Given the description of an element on the screen output the (x, y) to click on. 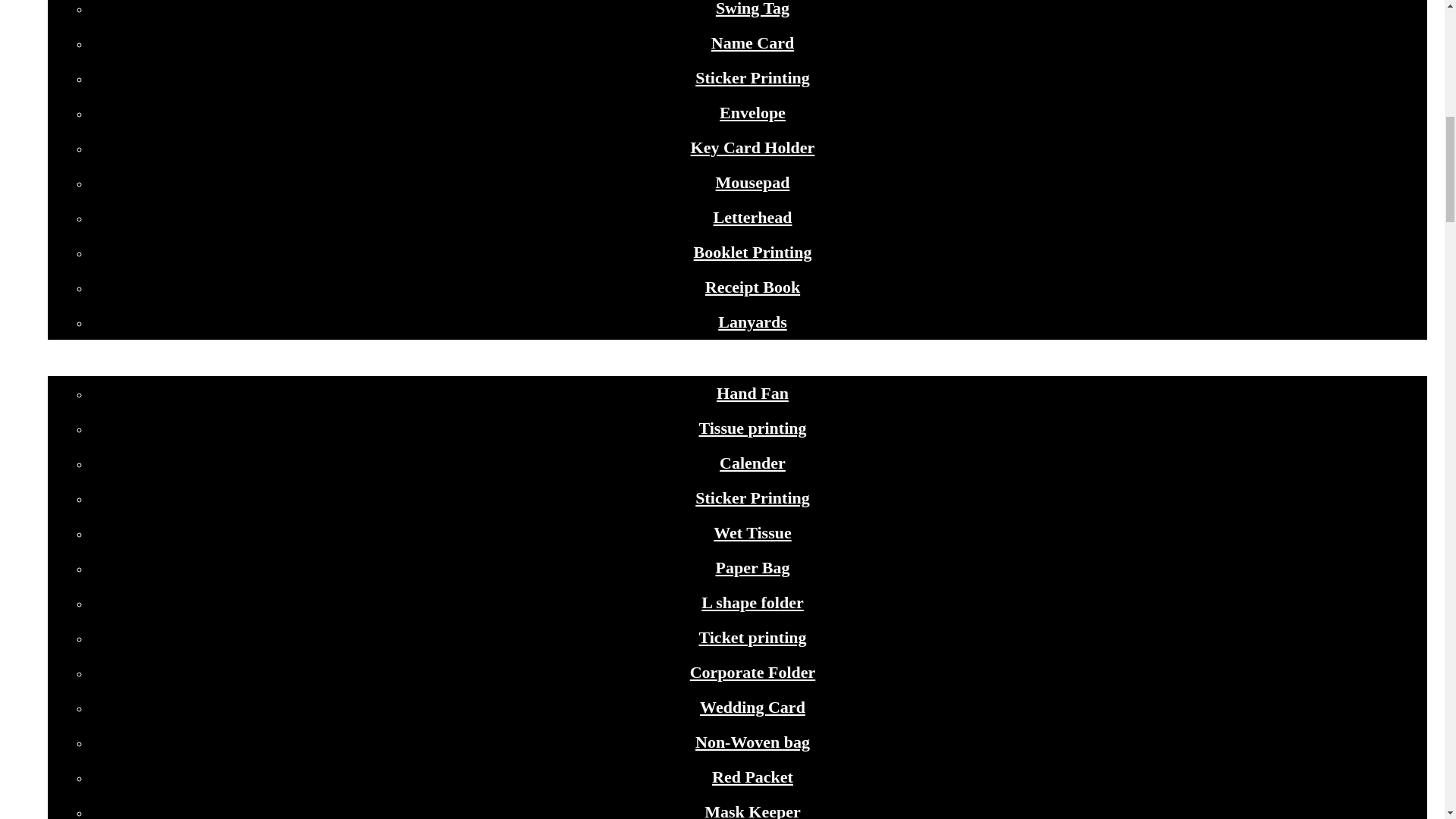
Sticker Printing (752, 497)
Lanyards (751, 321)
Envelope (752, 112)
Wet Tissue (752, 532)
Printing For Events (736, 364)
Booklet Printing (753, 251)
Key Card Holder (752, 147)
Hand Fan (752, 393)
Paper Bag (753, 567)
Sticker Printing (752, 76)
